Given the description of an element on the screen output the (x, y) to click on. 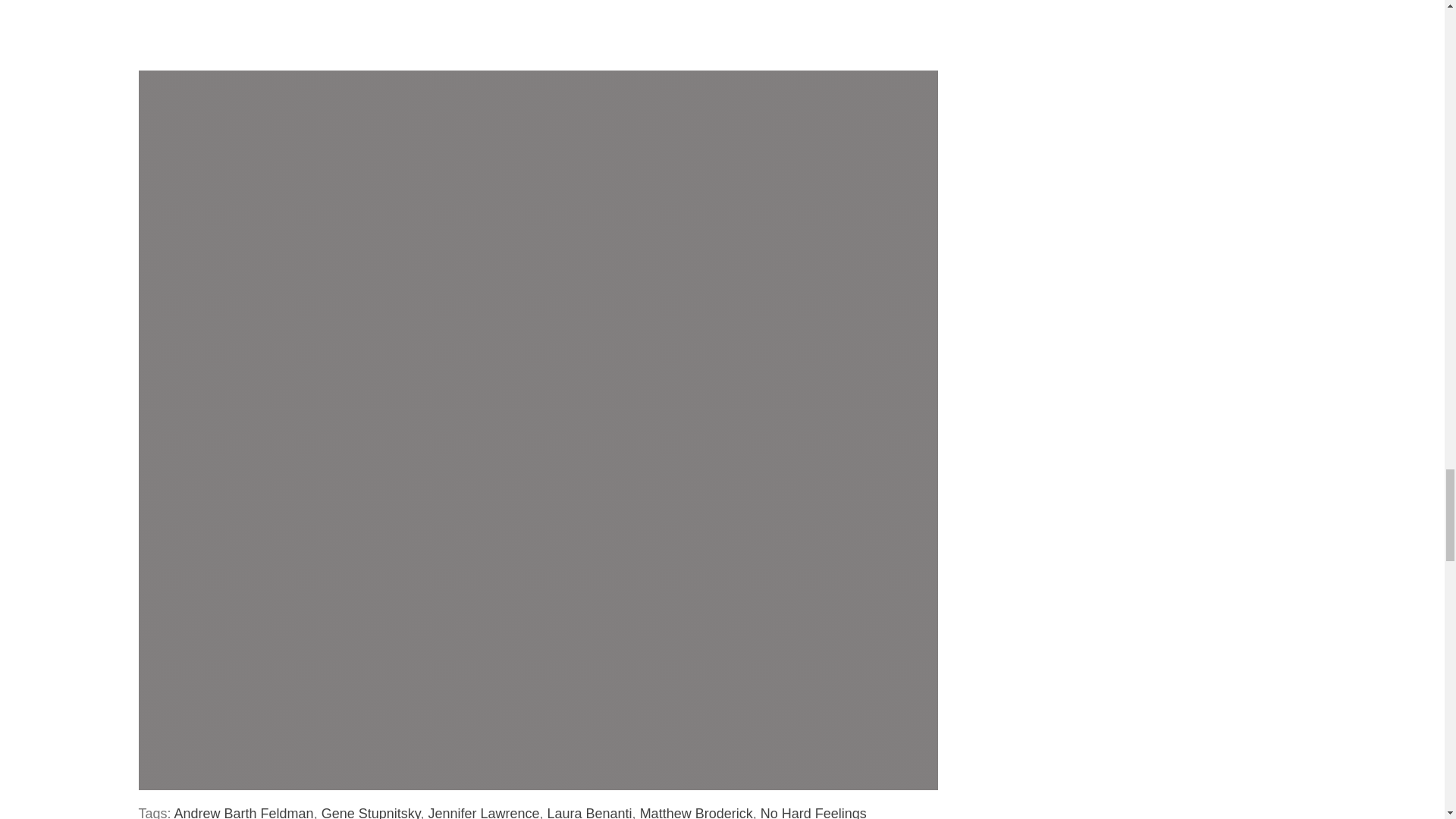
Andrew Barth Feldman (244, 812)
Laura Benanti (589, 812)
No Hard Feelings (813, 812)
Gene Stupnitsky (370, 812)
Matthew Broderick (696, 812)
Jennifer Lawrence (483, 812)
